Given the description of an element on the screen output the (x, y) to click on. 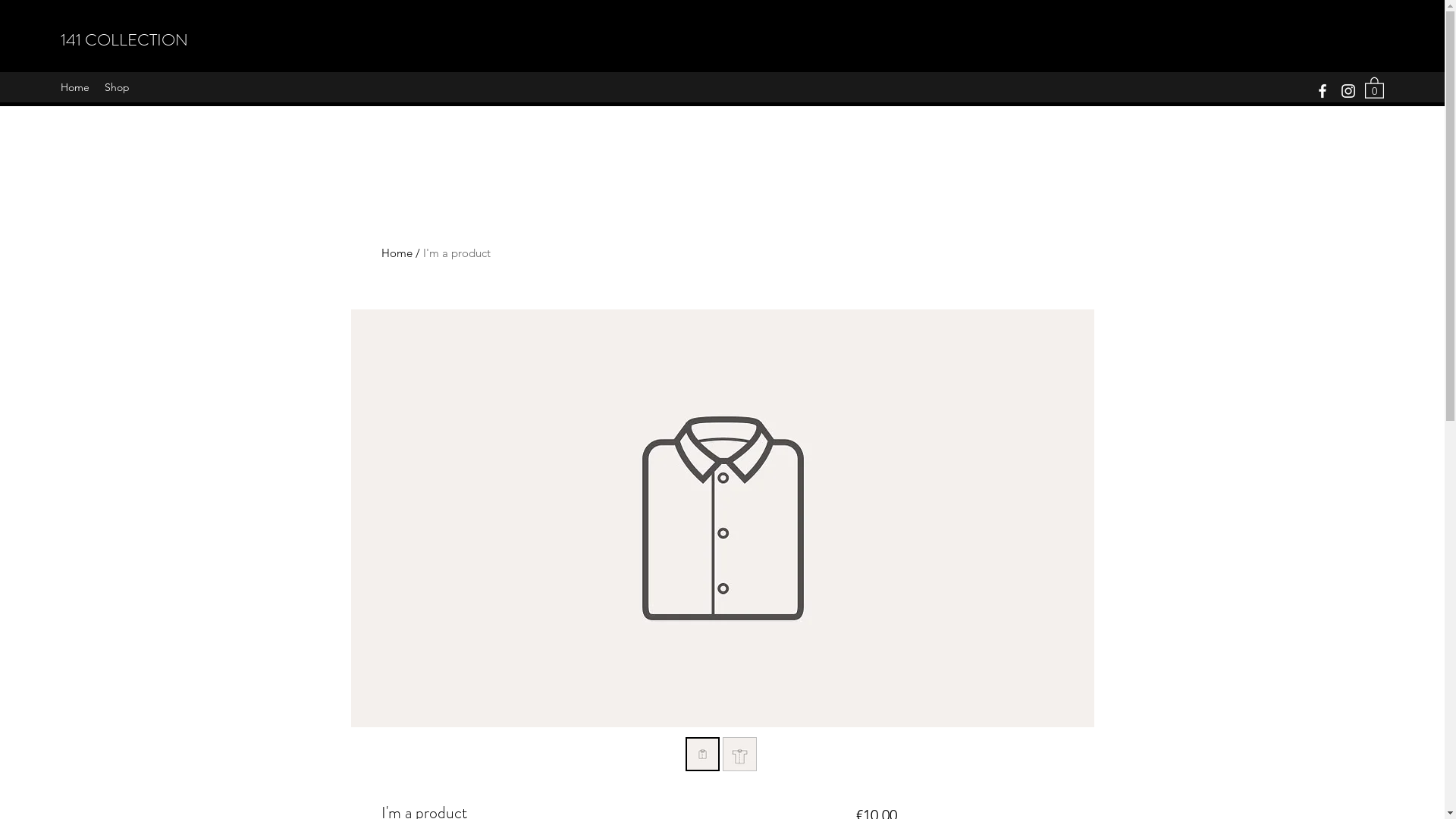
Home Element type: text (395, 252)
141 COLLECTION Element type: text (124, 39)
I'm a product Element type: text (456, 252)
0 Element type: text (1374, 86)
Shop Element type: text (117, 86)
Home Element type: text (75, 86)
